Given the description of an element on the screen output the (x, y) to click on. 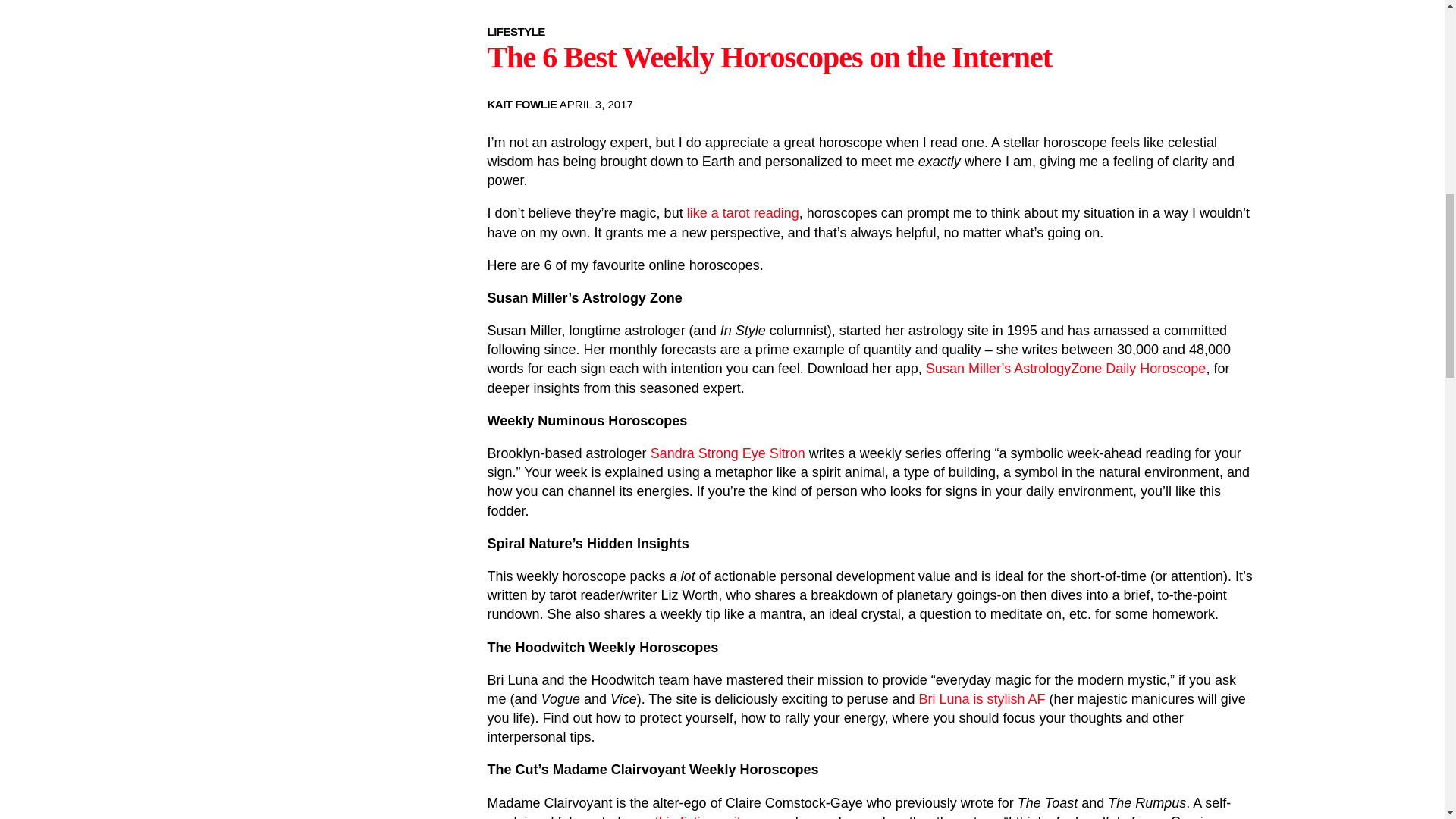
Sandra Strong Eye Sitron (727, 453)
The Hoodwitch Weekly Horoscopes (601, 647)
Bri Luna is stylish AF (981, 698)
Weekly Numinous Horoscopes (586, 420)
LIFESTYLE (515, 31)
like a tarot reading (743, 212)
